Given the description of an element on the screen output the (x, y) to click on. 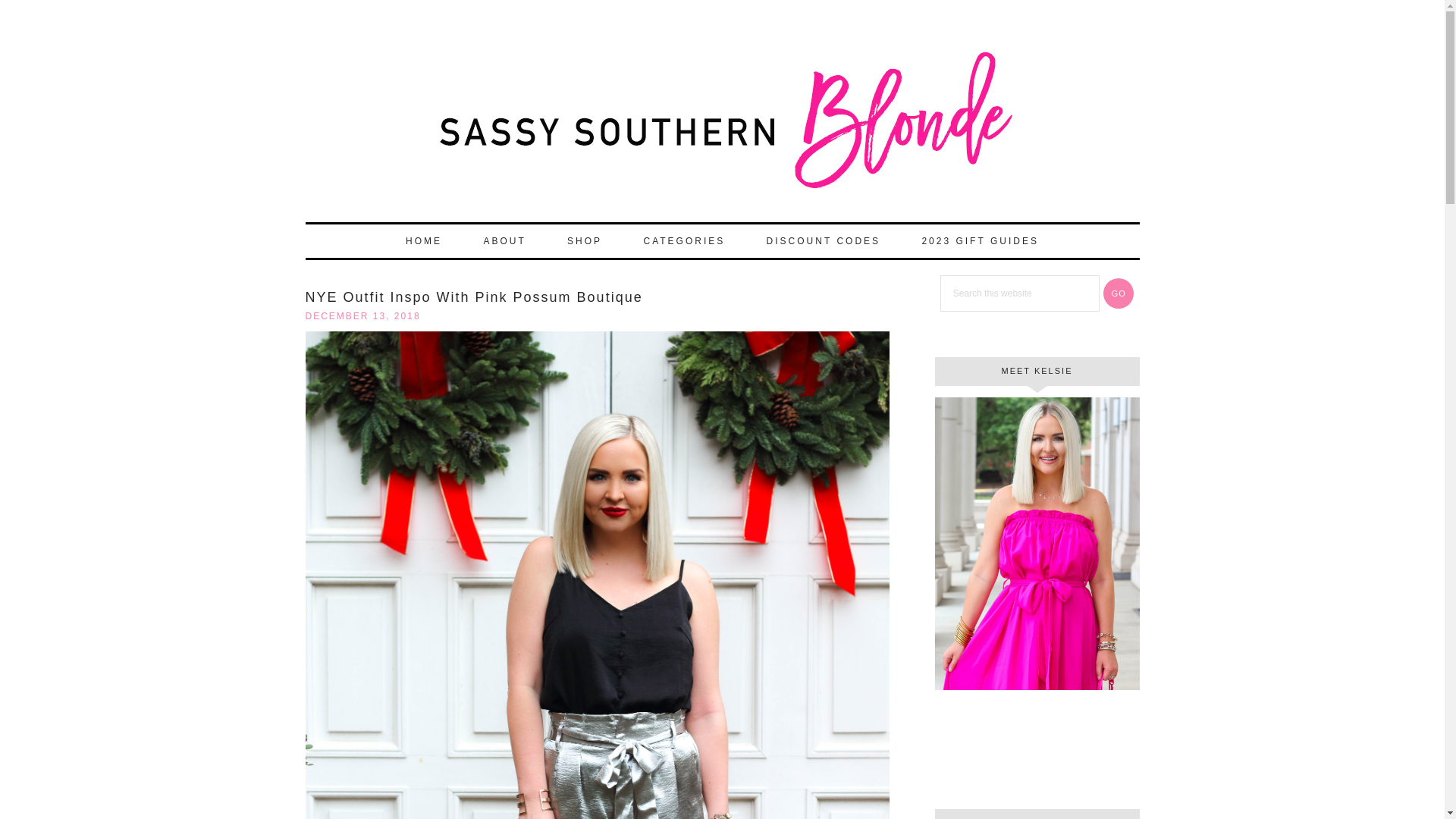
ABOUT (503, 240)
CATEGORIES (683, 240)
SHOP (584, 240)
DISCOUNT CODES (823, 240)
2023 GIFT GUIDES (978, 240)
HOME (423, 240)
Sassy Southern Blonde (721, 128)
GO (1118, 293)
GO (1118, 293)
NYE Outfit Inspo With Pink Possum Boutique (473, 296)
